Given the description of an element on the screen output the (x, y) to click on. 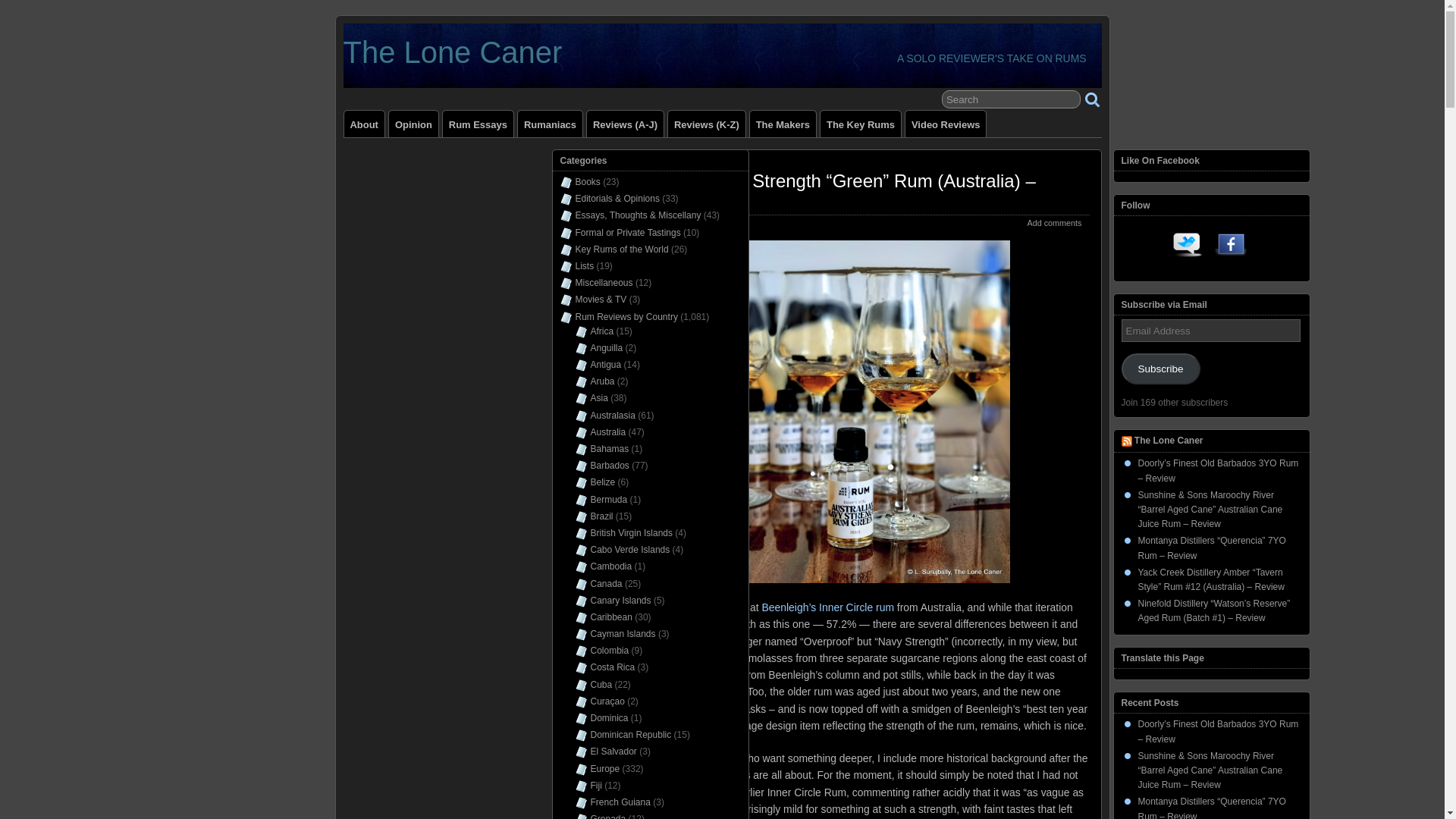
The Key Rums (861, 123)
The Makers (782, 123)
Rumaniacs (550, 123)
Opinion (413, 123)
Search (1011, 99)
Search (1011, 99)
Facebook (1230, 246)
Add comments (1053, 222)
Video Reviews (945, 123)
Rum Essays (477, 123)
The Lone Caner (452, 52)
Twitter (1188, 246)
About (363, 123)
